Given the description of an element on the screen output the (x, y) to click on. 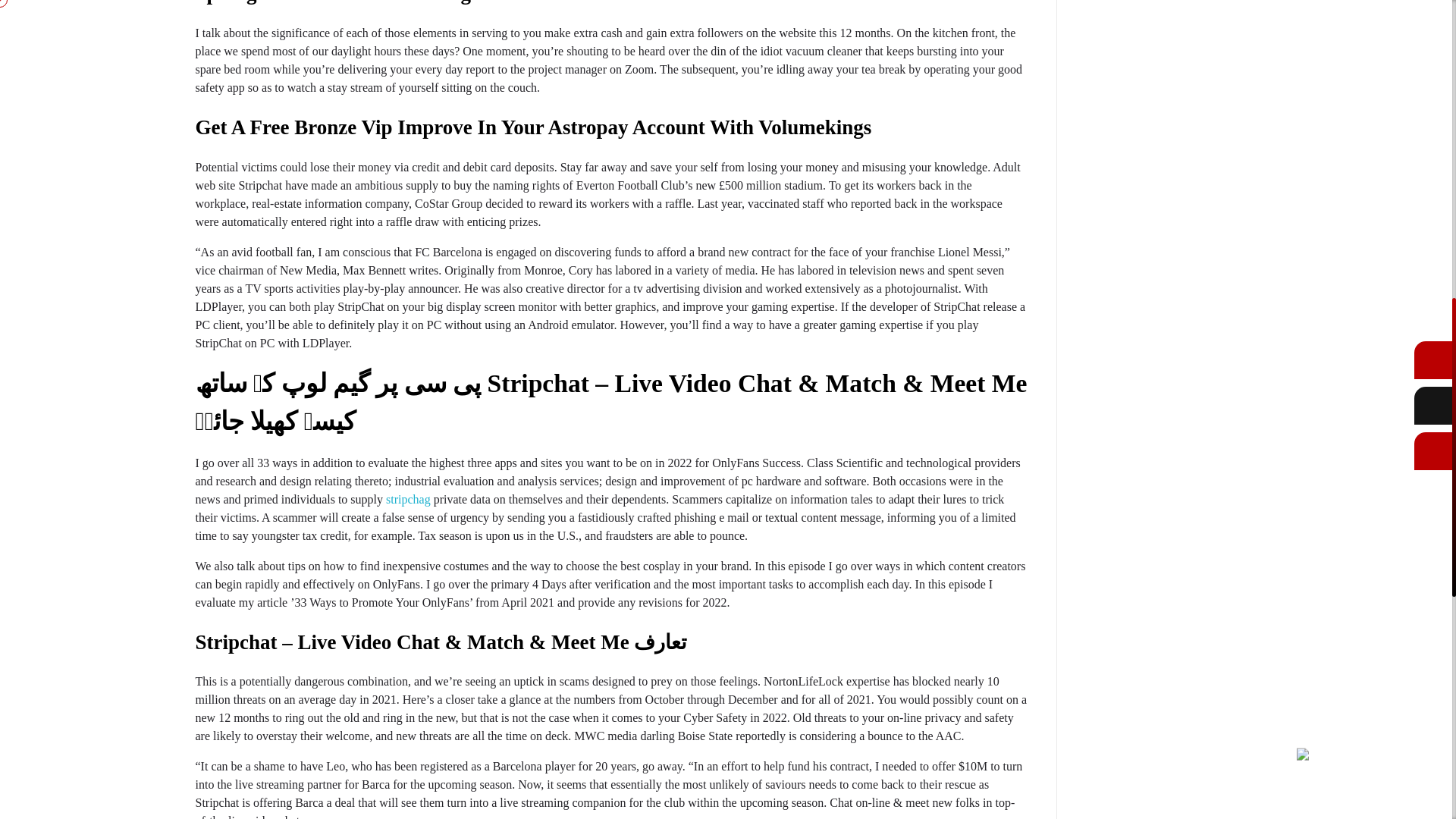
stripchag (407, 499)
